Given the description of an element on the screen output the (x, y) to click on. 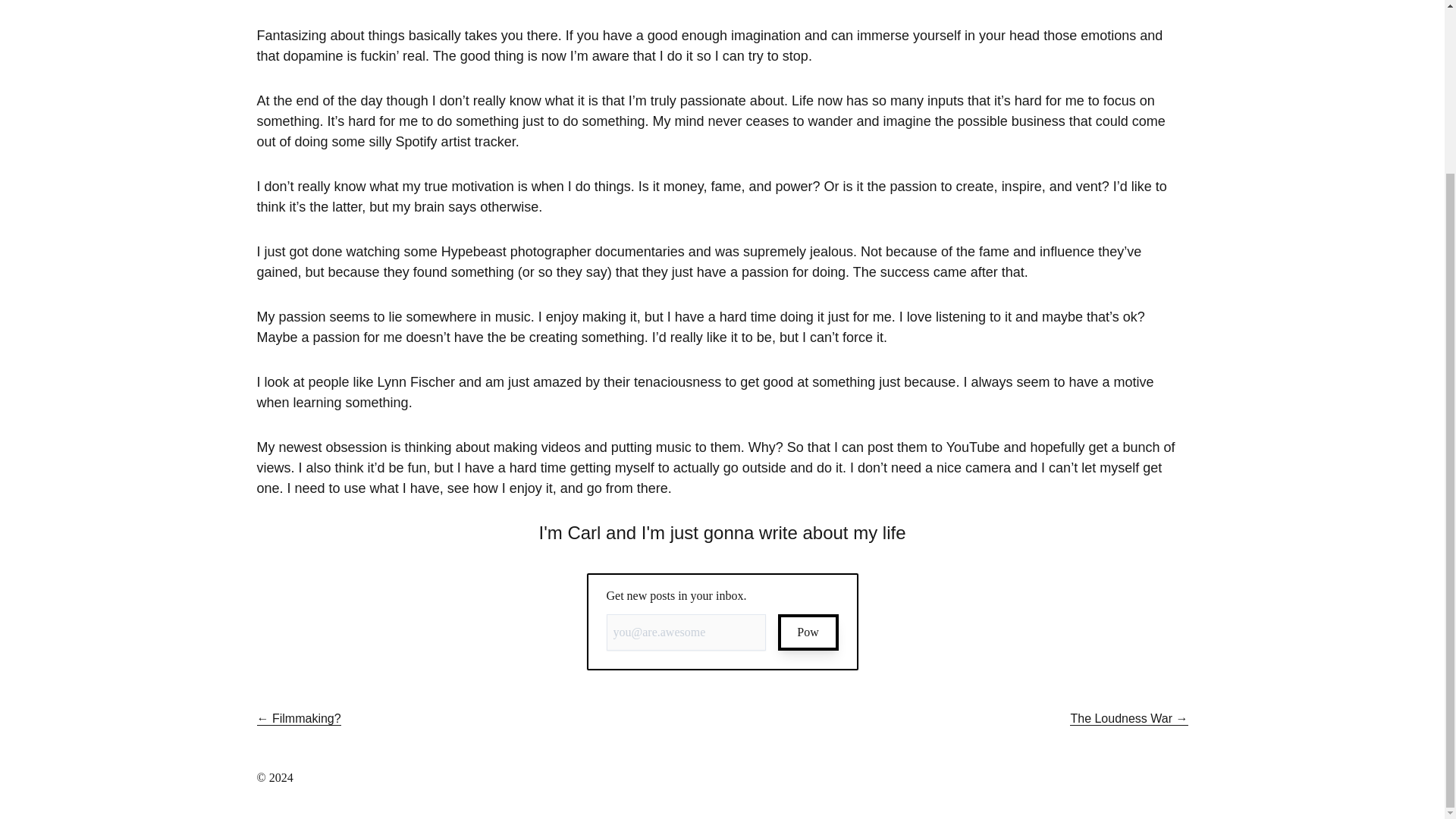
Pow (807, 632)
